Given the description of an element on the screen output the (x, y) to click on. 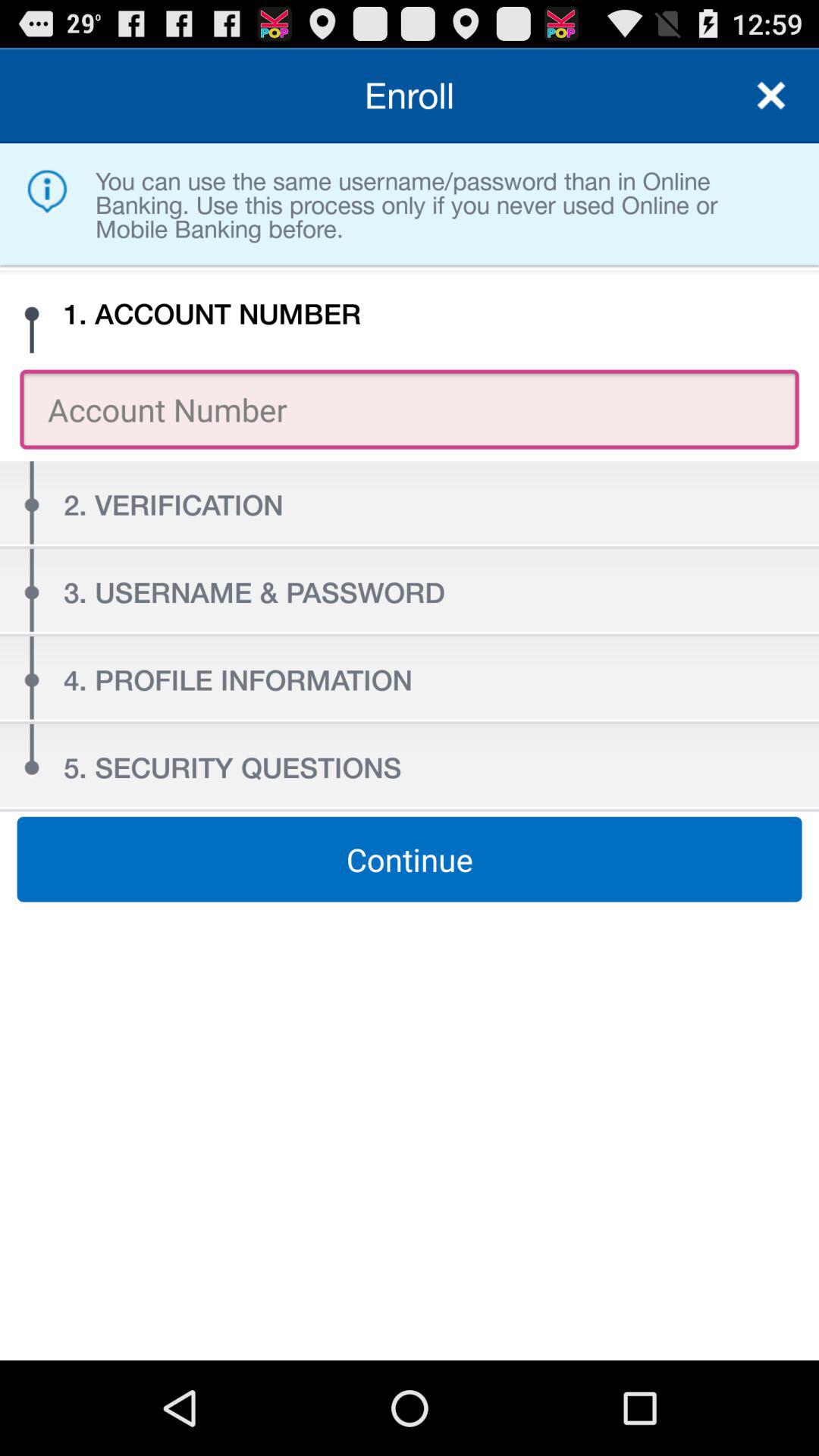
press the item below the 5. security questions (409, 859)
